Given the description of an element on the screen output the (x, y) to click on. 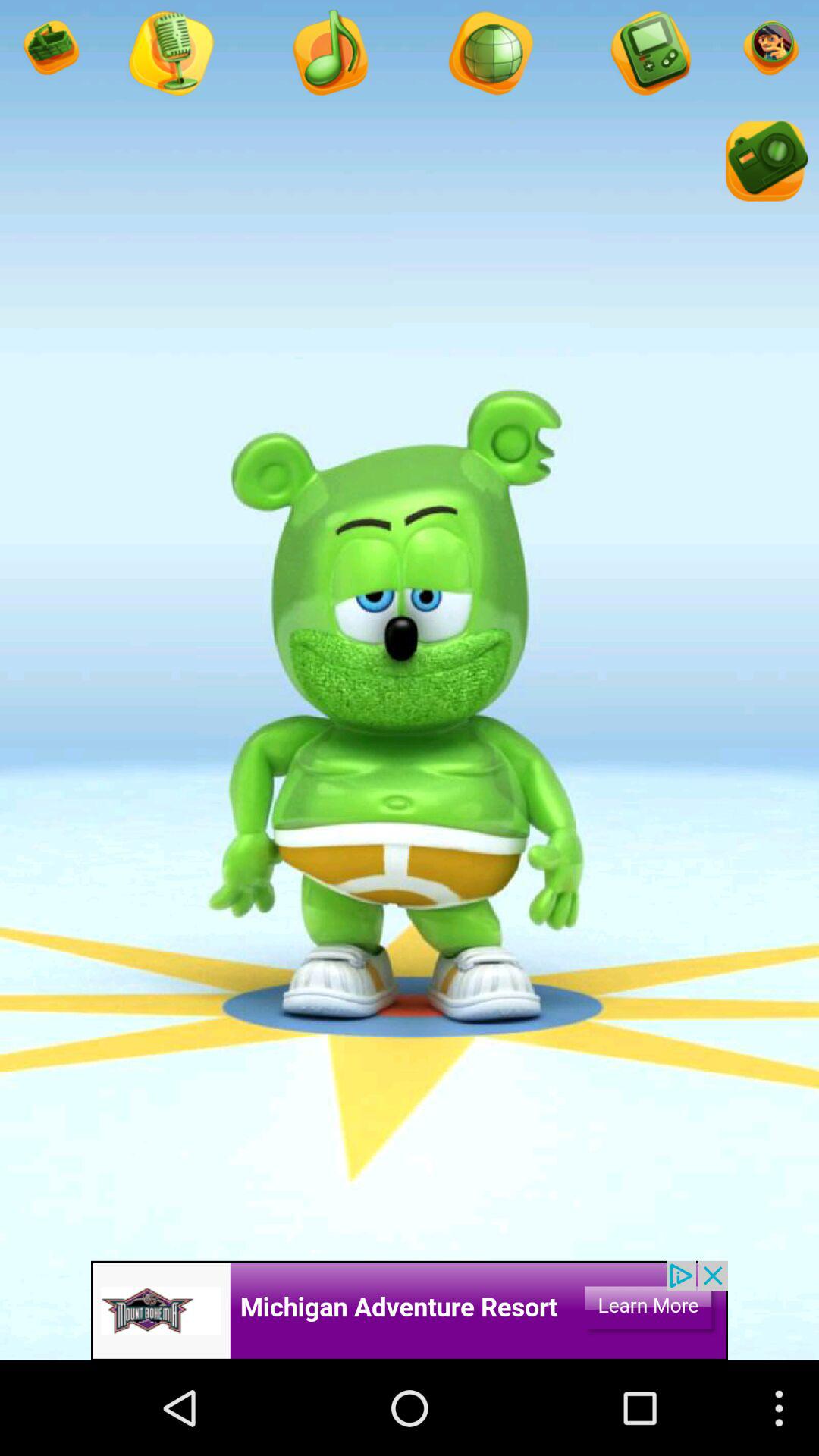
play music (329, 55)
